Given the description of an element on the screen output the (x, y) to click on. 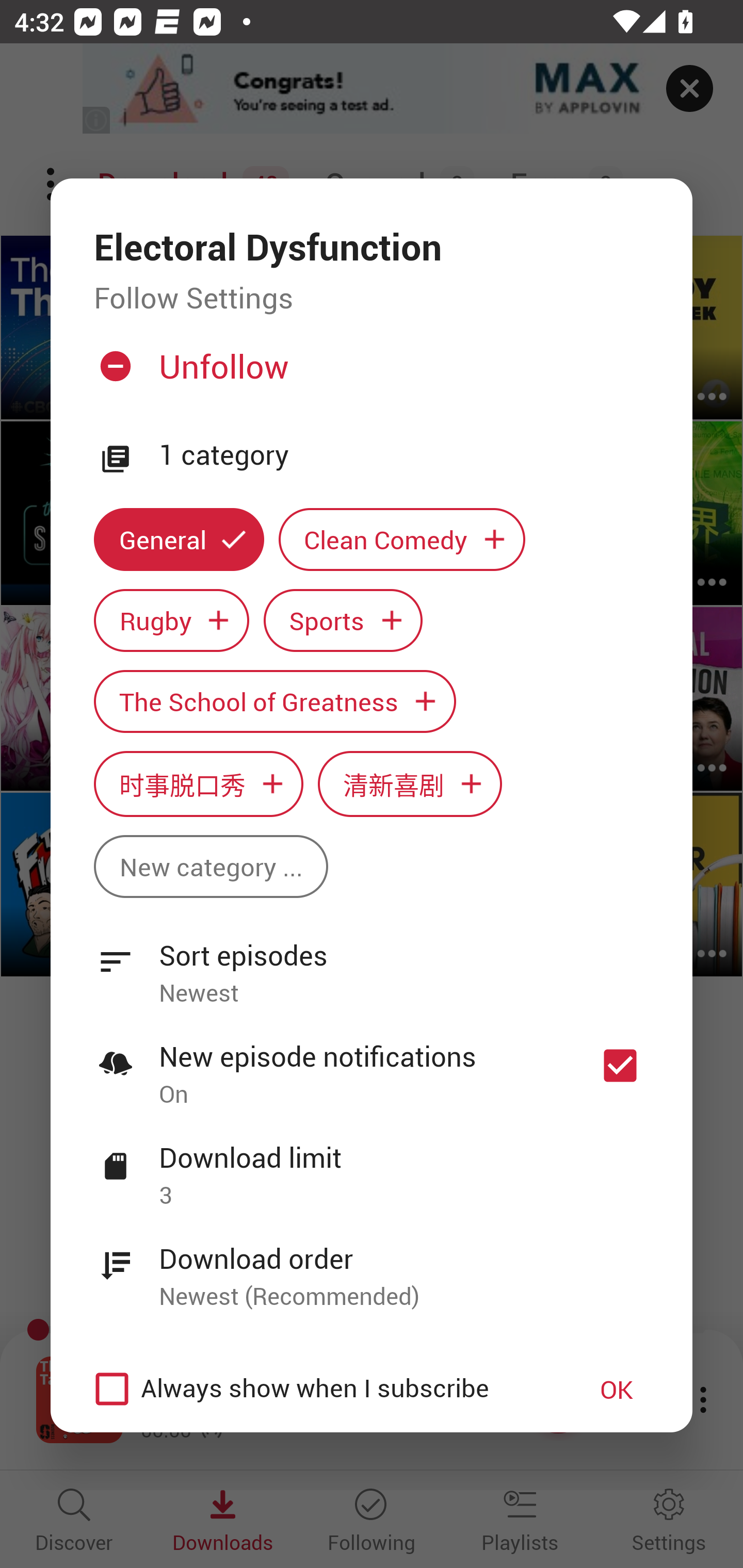
Unfollow (369, 374)
1 category (404, 455)
General (178, 539)
Clean Comedy (401, 539)
Rugby (170, 620)
Sports (342, 620)
The School of Greatness (274, 700)
时事脱口秀 (198, 783)
清新喜剧 (410, 783)
New category ... (210, 866)
Sort episodes Newest (371, 962)
New episode notifications (620, 1065)
Download limit 3 (371, 1164)
Download order Newest (Recommended) (371, 1266)
OK (616, 1388)
Always show when I subscribe (320, 1388)
